Given the description of an element on the screen output the (x, y) to click on. 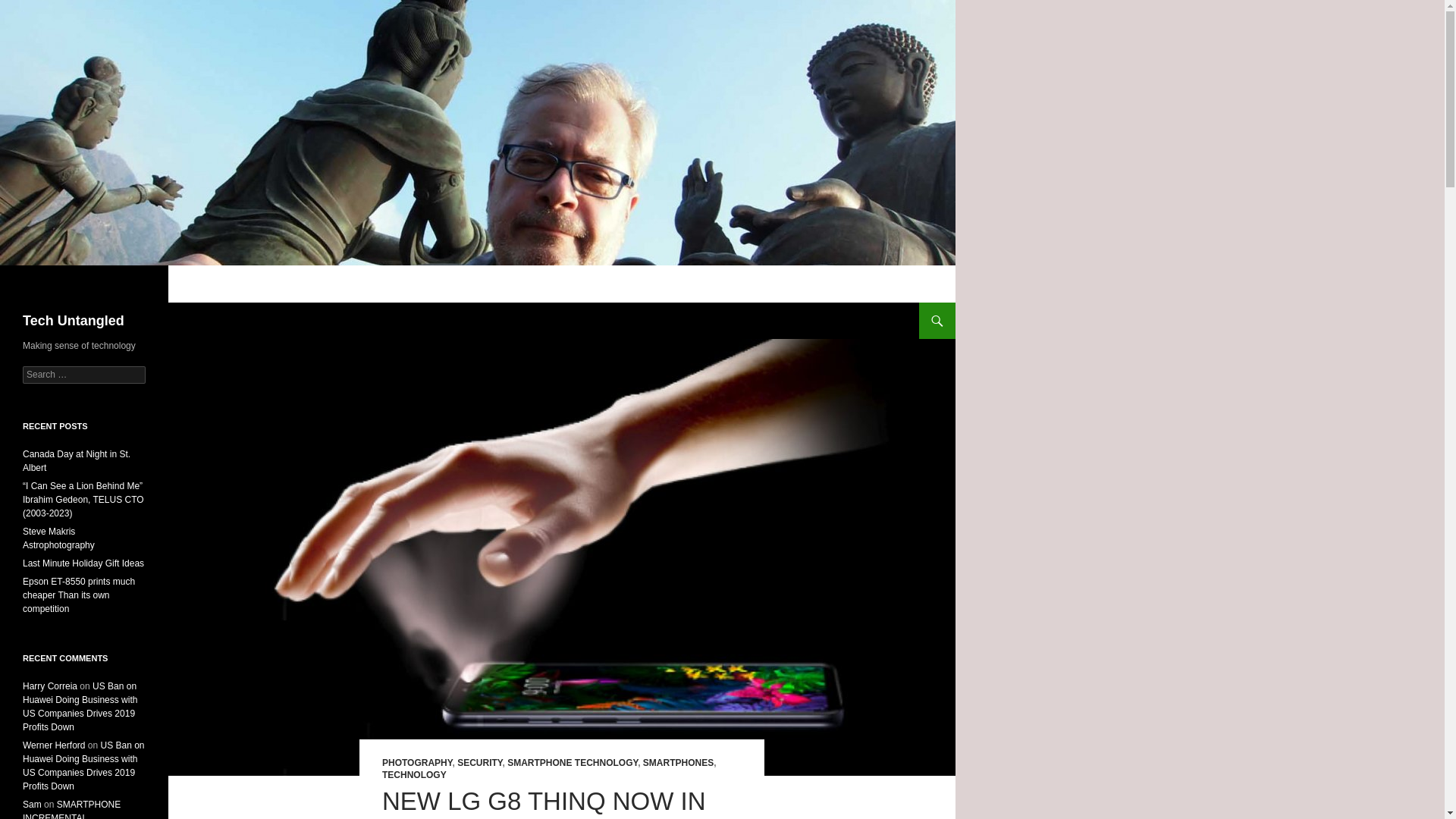
Epson ET-8550 prints much cheaper Than its own competition (79, 595)
SMARTPHONE TECHNOLOGY (571, 762)
Tech Untangled (73, 320)
Canada Day at Night in St. Albert (77, 460)
Steve Makris Astrophotography (58, 538)
Harry Correia (50, 685)
PHOTOGRAPHY (416, 762)
Werner Herford (53, 745)
